Given the description of an element on the screen output the (x, y) to click on. 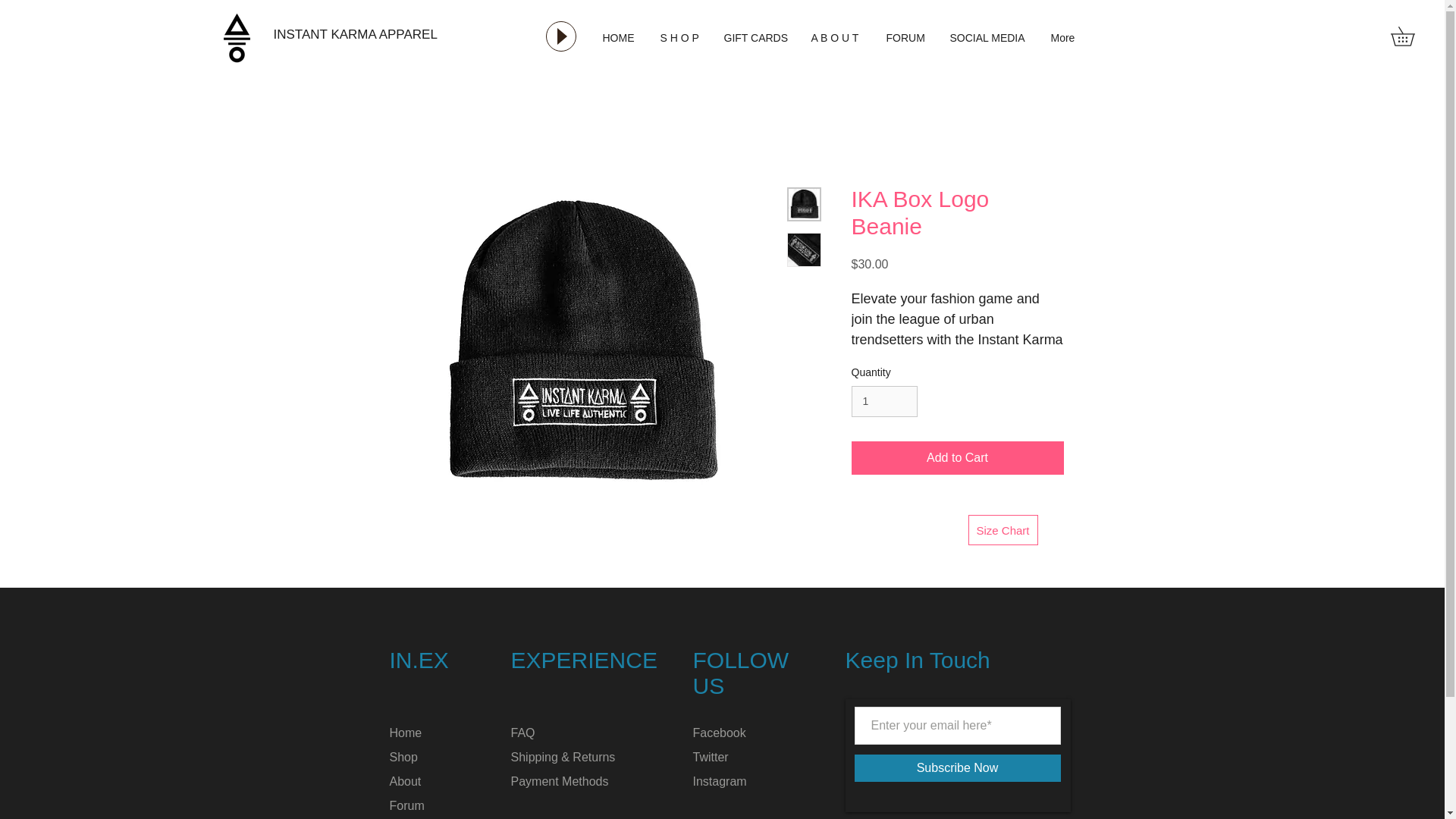
Shop (403, 757)
Instagram (719, 780)
A B O U T (837, 37)
Size Chart (1002, 530)
1 (883, 400)
Payment Methods (559, 780)
Subscribe Now (956, 768)
Twitter (711, 757)
About (406, 780)
Home (406, 732)
